Given the description of an element on the screen output the (x, y) to click on. 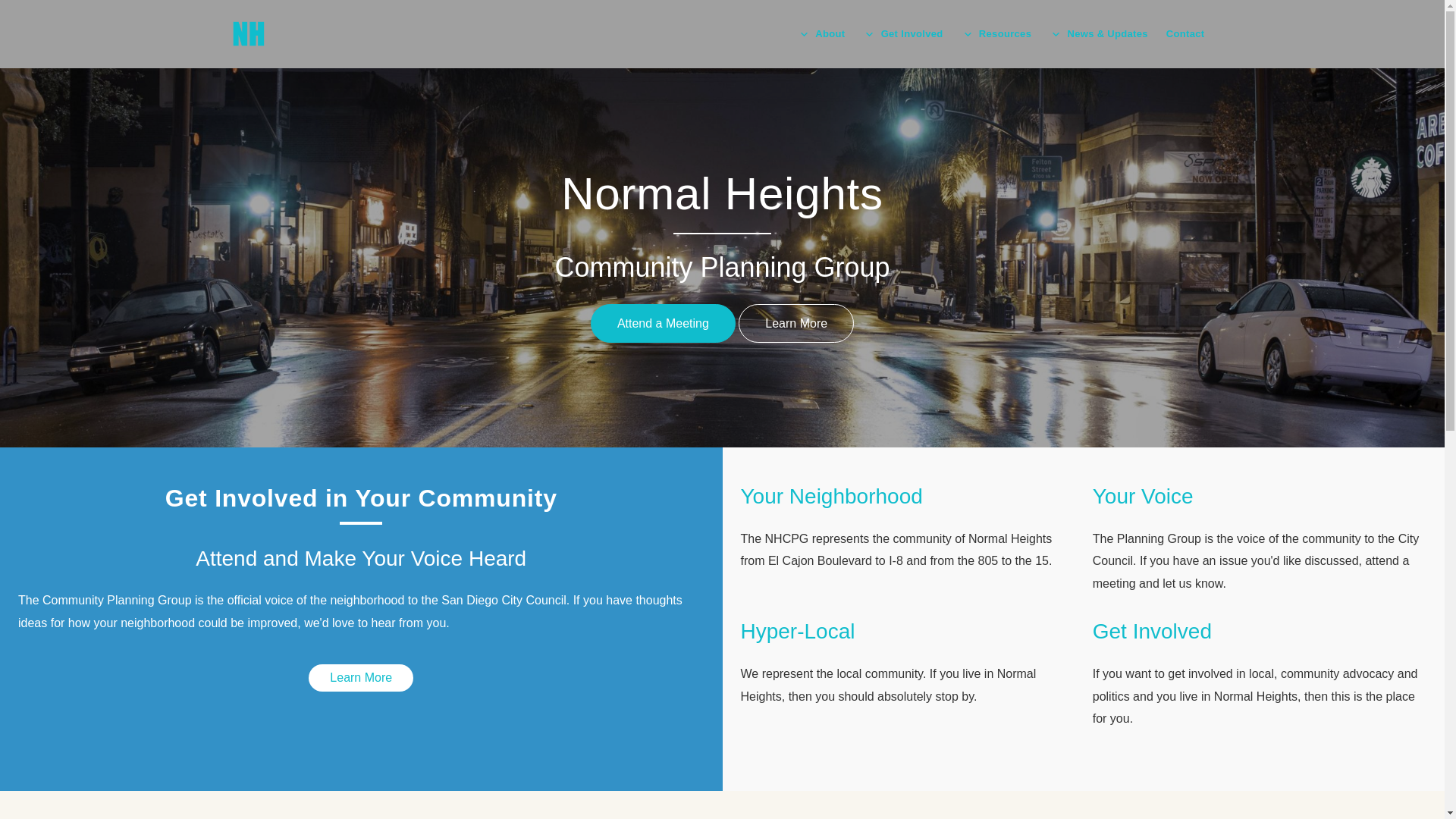
Learn More (795, 323)
Resources (1004, 33)
Get Involved (911, 33)
Attend a Meeting (663, 323)
About (829, 33)
Attend a Meeting (663, 323)
Learn More (360, 677)
Contact (1185, 33)
Learn More (795, 323)
Learn More (360, 677)
